Given the description of an element on the screen output the (x, y) to click on. 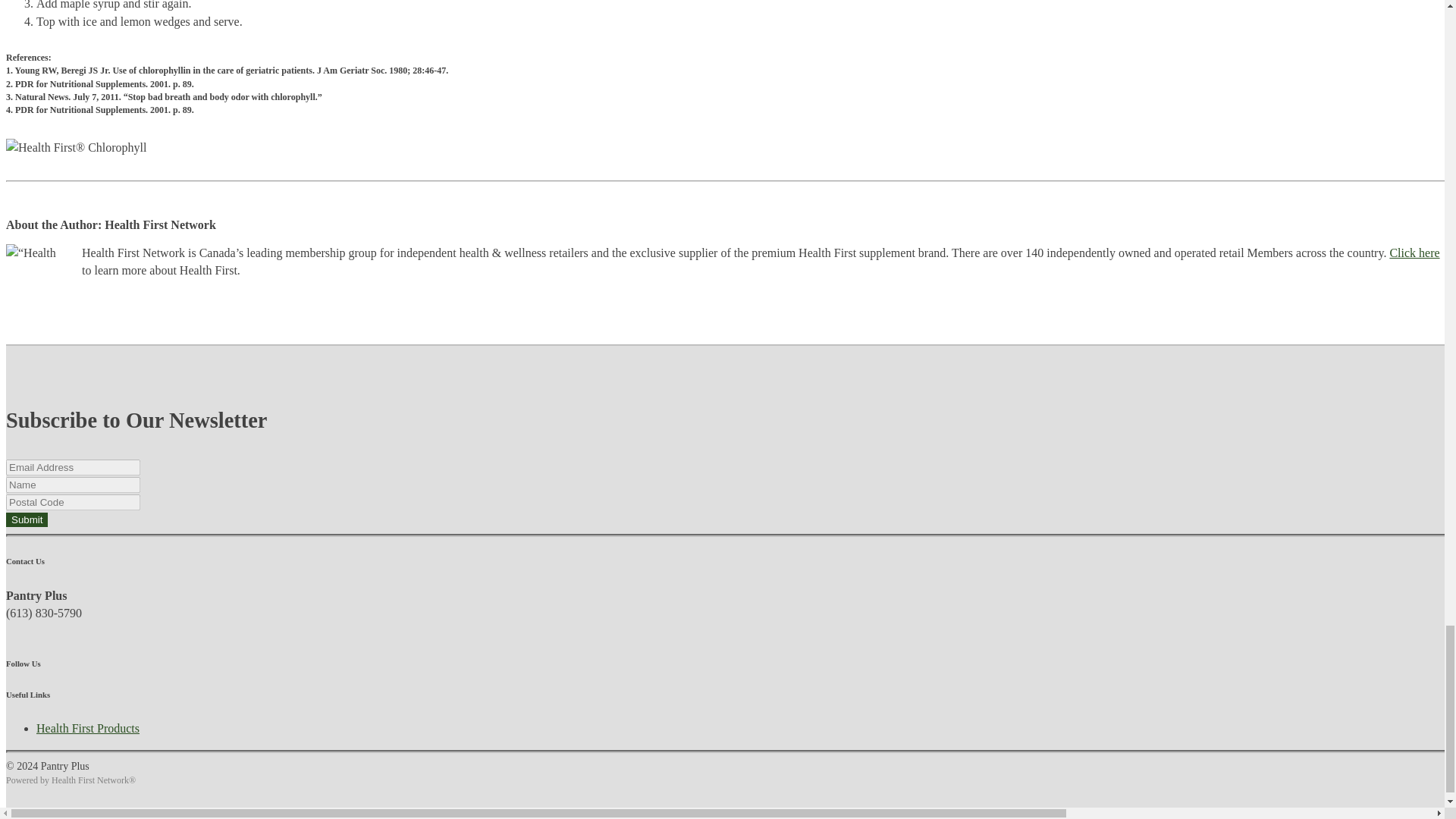
Health First Network (89, 779)
Health First Products (87, 727)
Submit (26, 519)
Click here (1414, 252)
